Given the description of an element on the screen output the (x, y) to click on. 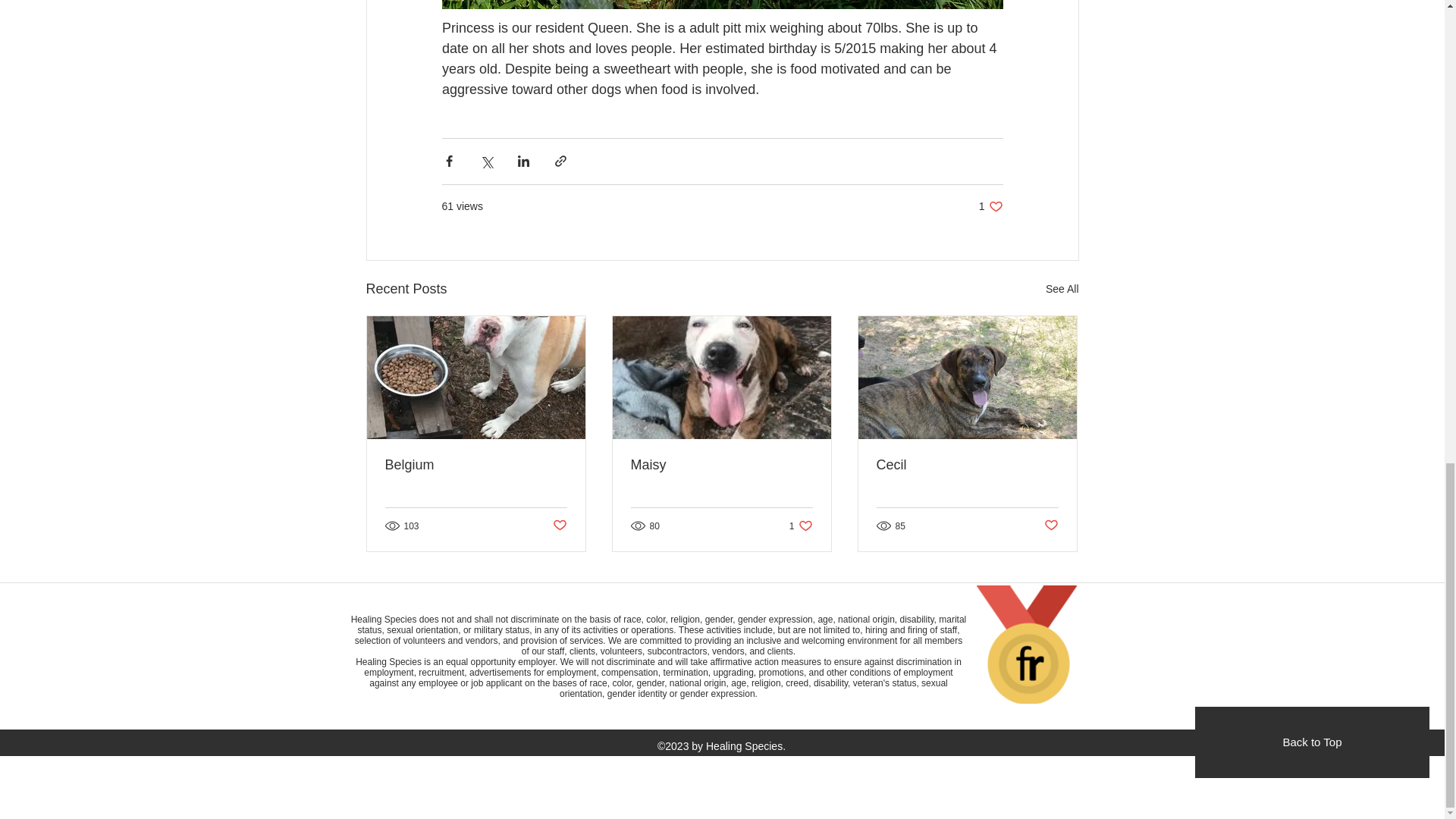
Maisy (721, 465)
Belgium (476, 465)
See All (1061, 289)
Cecil (800, 525)
Post not marked as liked (990, 206)
Post not marked as liked (967, 465)
